Given the description of an element on the screen output the (x, y) to click on. 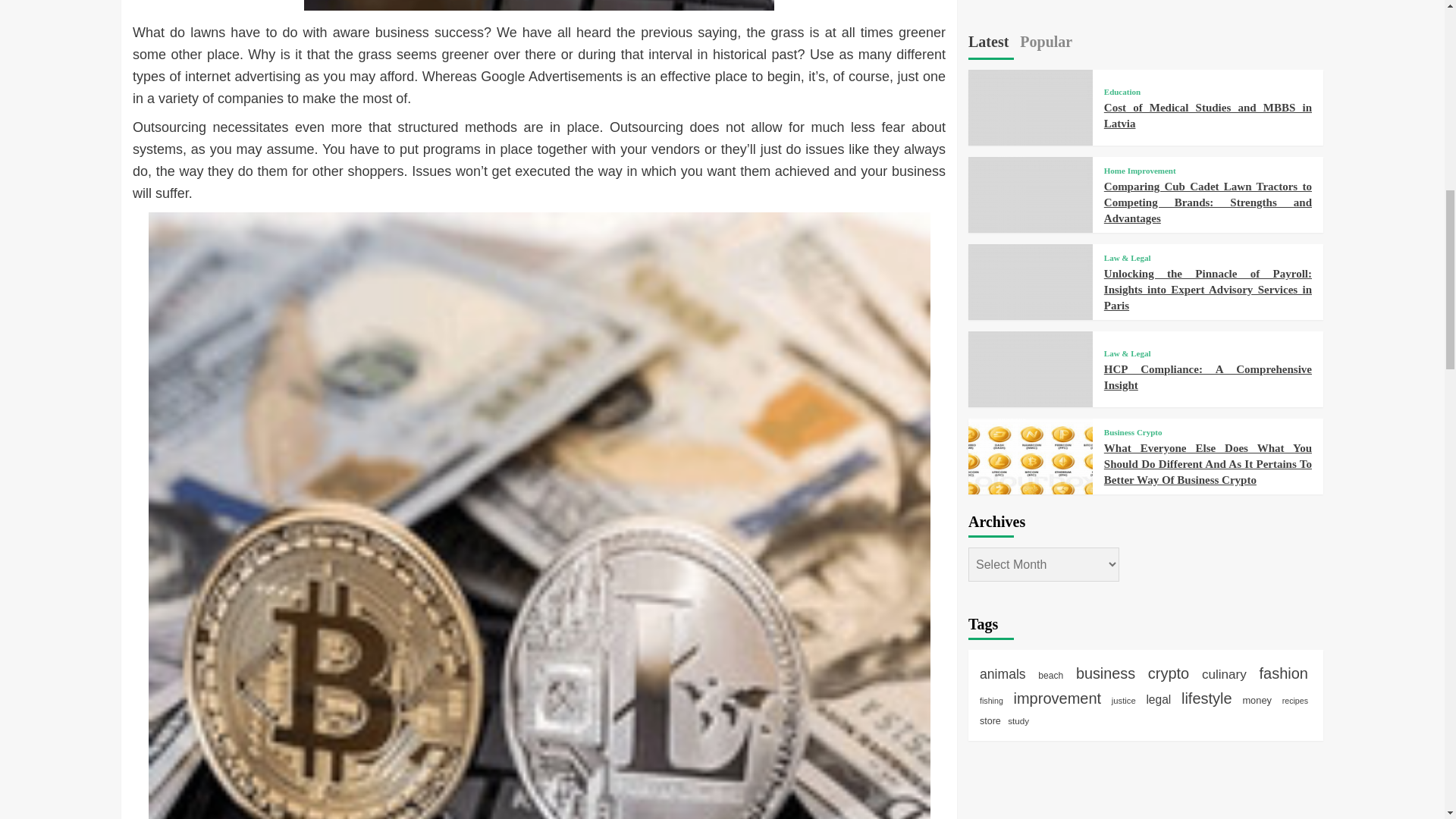
The Unexposed Secret of Organization Of Crypto Business (538, 5)
